Given the description of an element on the screen output the (x, y) to click on. 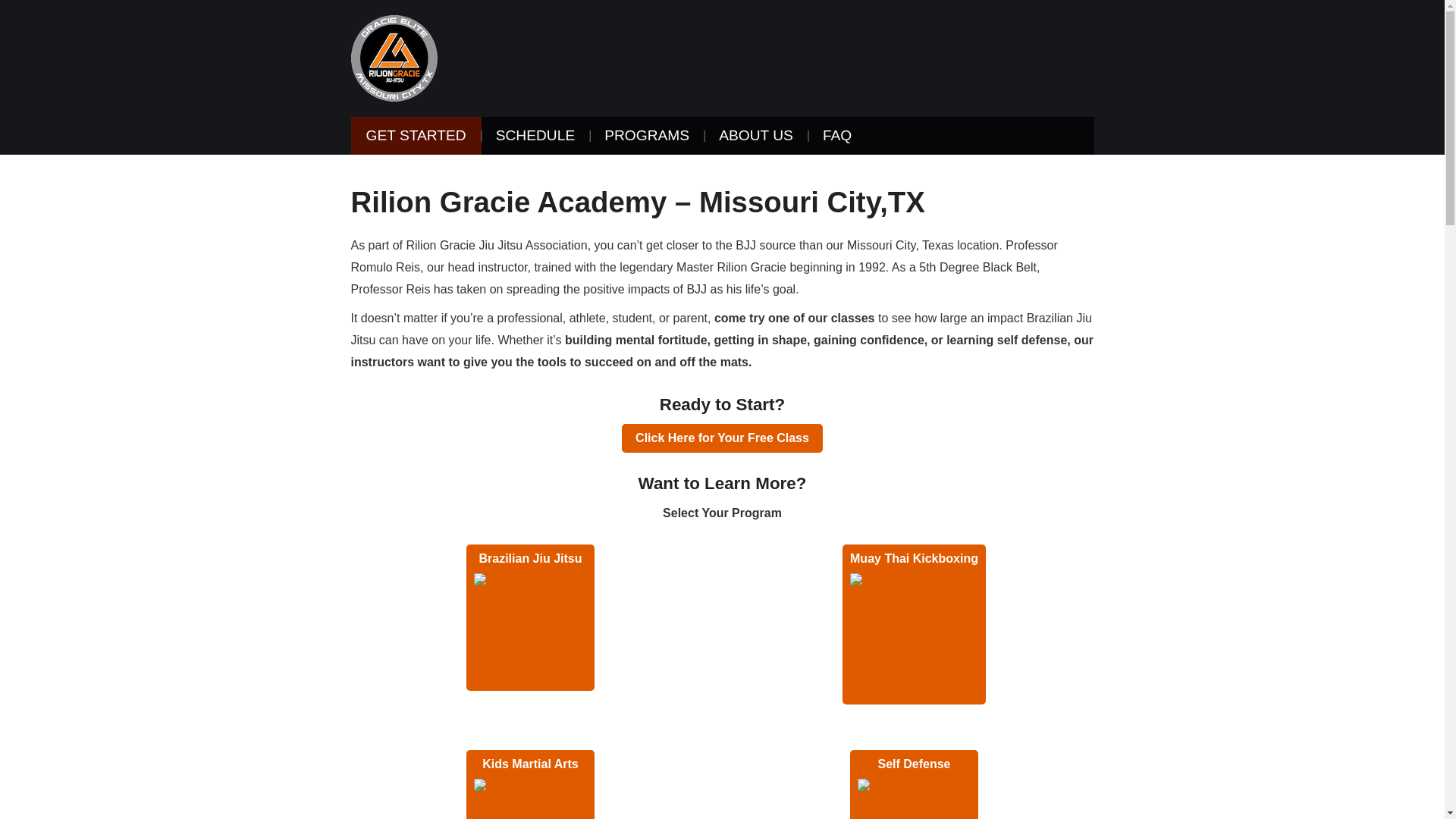
ABOUT US (755, 135)
Click Here for Your Free Class (721, 438)
Muay Thai Kickboxing (914, 624)
FAQ (837, 135)
SCHEDULE (535, 135)
Kids Martial Arts (529, 784)
PROGRAMS (646, 135)
Self Defense (914, 784)
GET STARTED (415, 135)
